Given the description of an element on the screen output the (x, y) to click on. 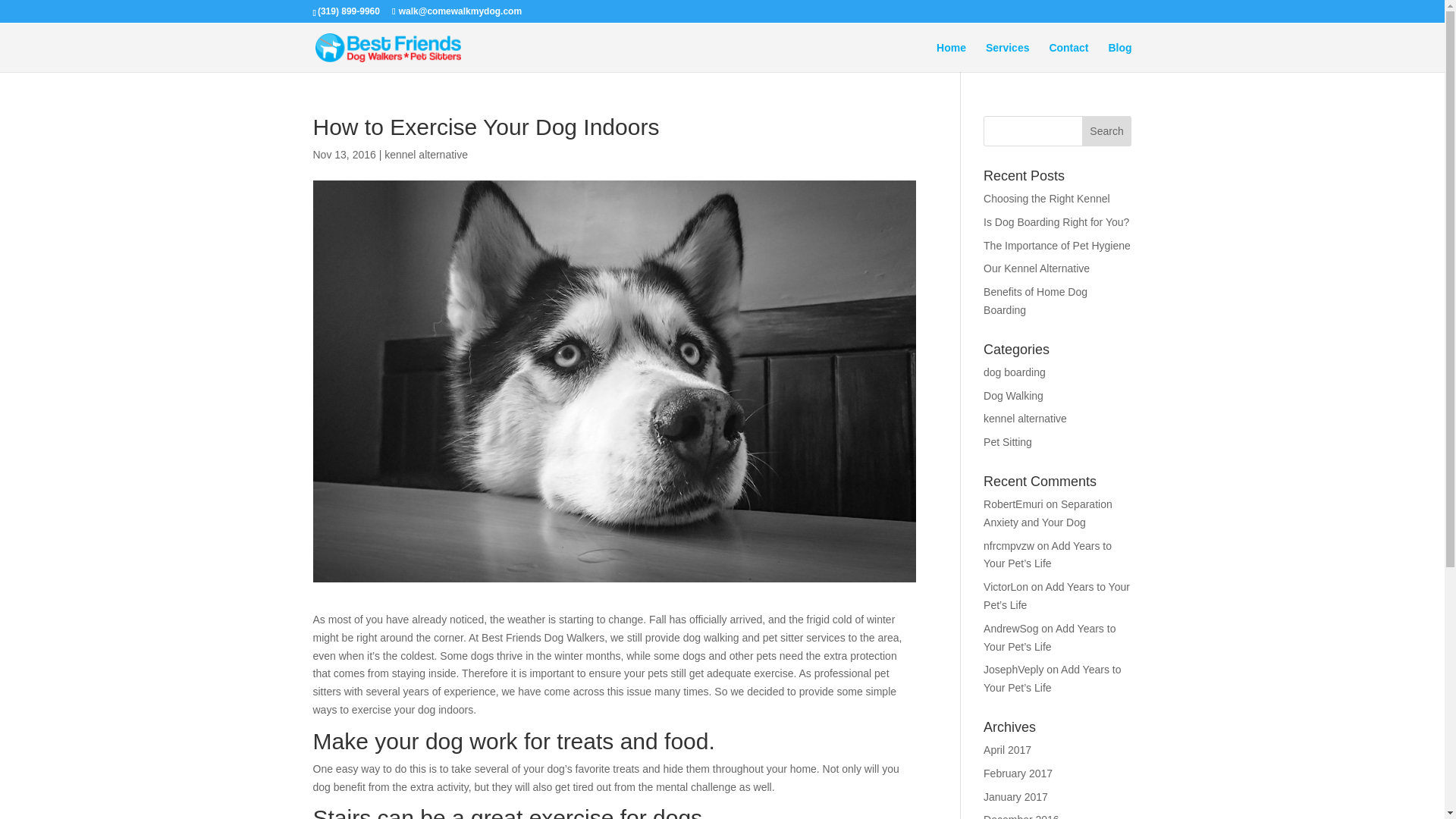
Is Dog Boarding Right for You? (1056, 222)
Home (951, 57)
Contact (1067, 57)
Separation Anxiety and Your Dog (1048, 512)
Dog Walking (1013, 395)
Benefits of Home Dog Boarding (1035, 300)
Search (1106, 131)
February 2017 (1018, 773)
Services (1007, 57)
January 2017 (1016, 797)
VictorLon (1005, 586)
nfrcmpvzw (1008, 545)
April 2017 (1007, 749)
Choosing the Right Kennel (1046, 198)
dog boarding (1014, 372)
